Given the description of an element on the screen output the (x, y) to click on. 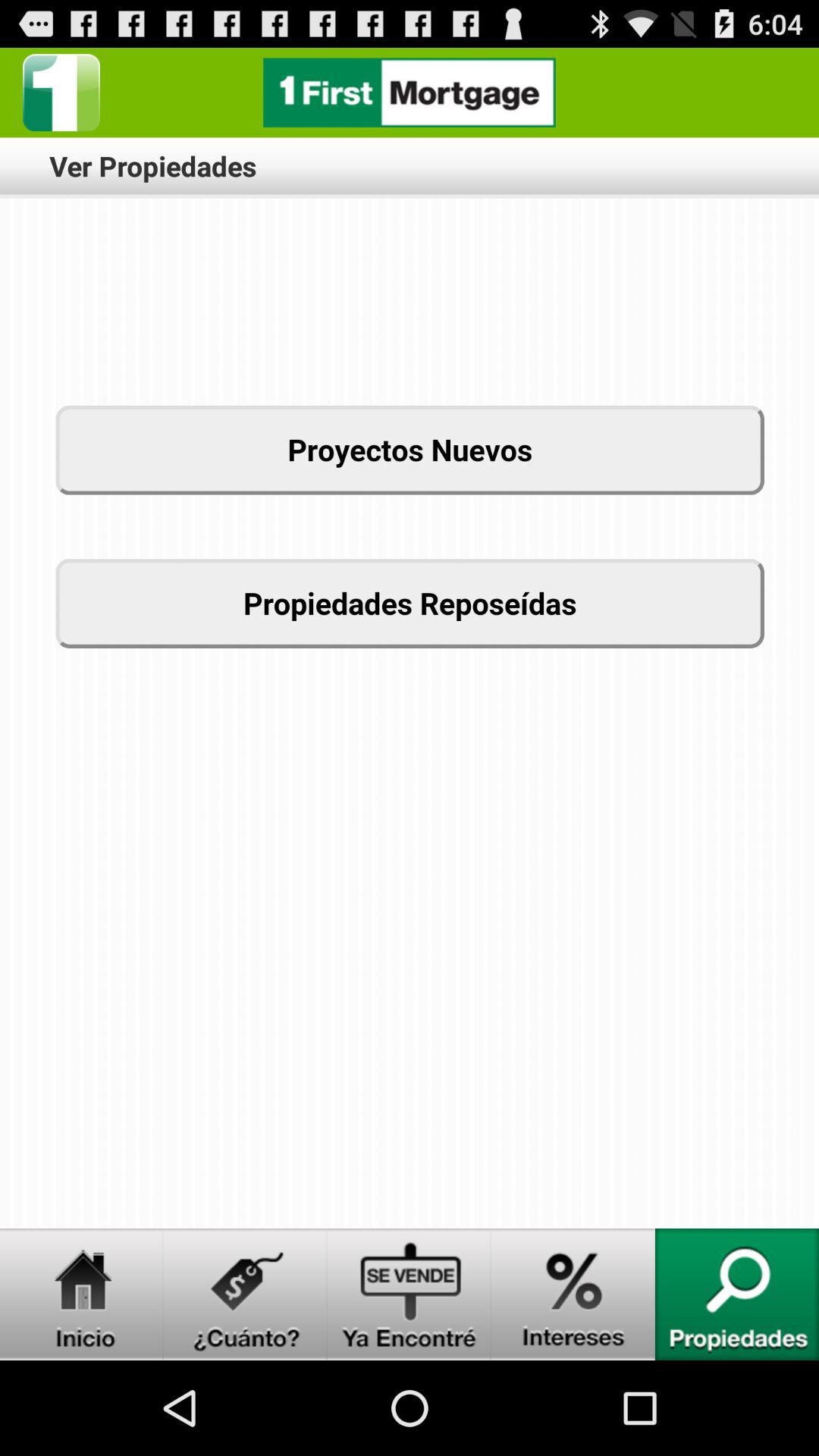
home icon (81, 1294)
